Given the description of an element on the screen output the (x, y) to click on. 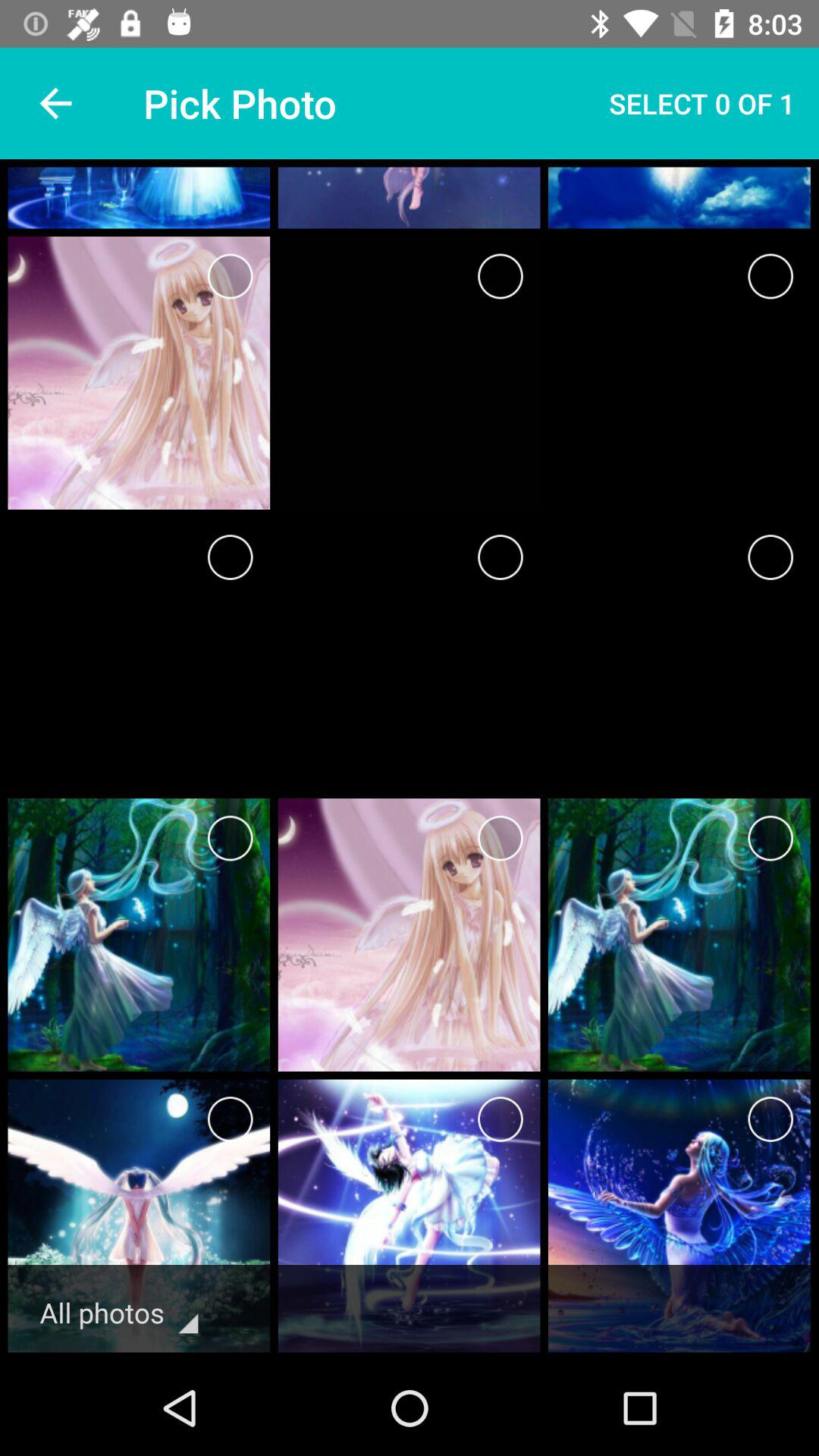
choose a picture (500, 276)
